Given the description of an element on the screen output the (x, y) to click on. 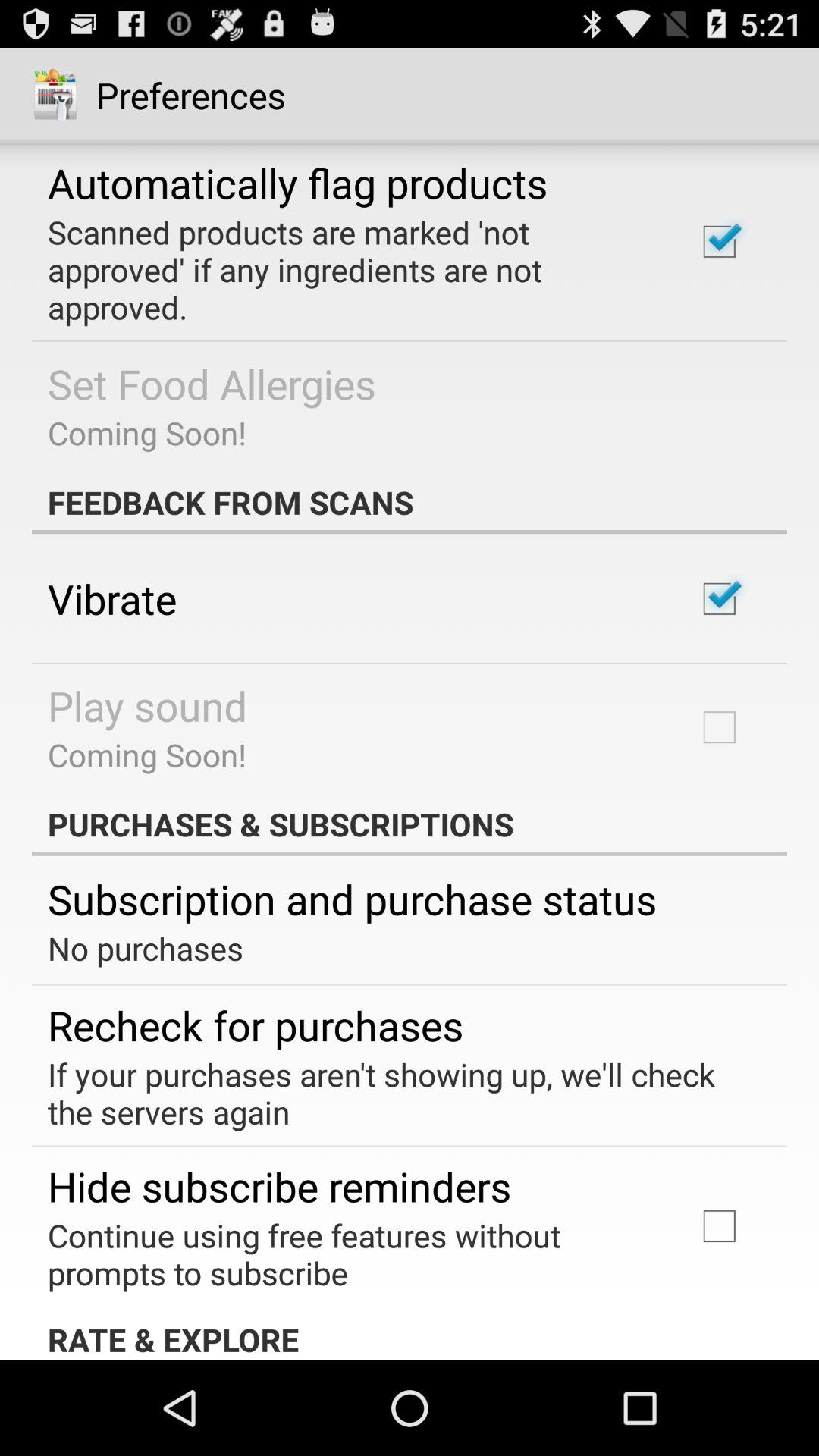
launch the subscription and purchase item (351, 898)
